Given the description of an element on the screen output the (x, y) to click on. 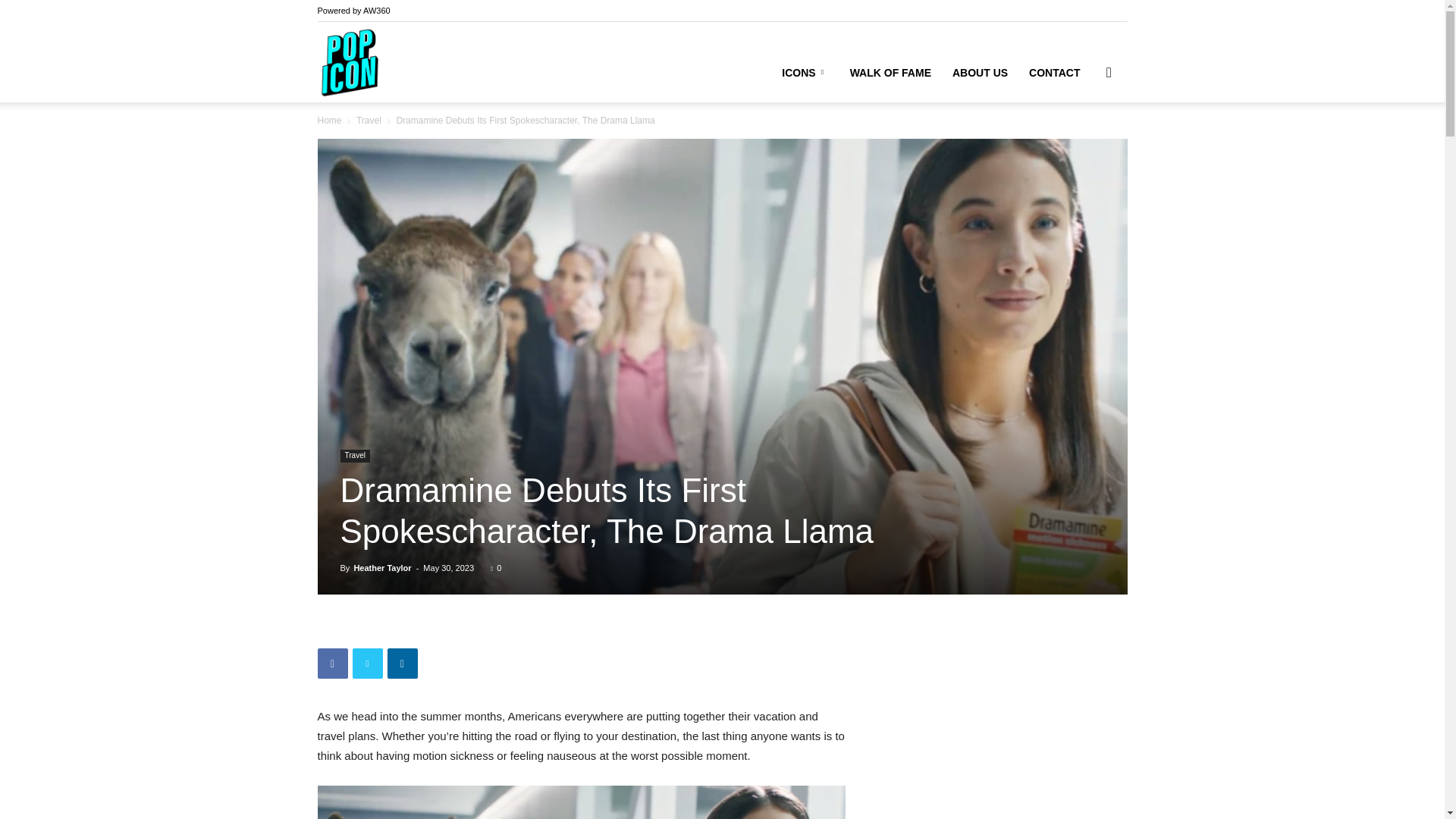
Travel (368, 120)
Powered by AW360 (353, 10)
Search (1085, 144)
ABOUT US (979, 72)
WALK OF FAME (891, 72)
ICONS (804, 72)
0 (495, 567)
Home (328, 120)
CONTACT (1053, 72)
View all posts in Travel (368, 120)
PopIcon.life (348, 61)
Heather Taylor (381, 567)
Travel (354, 455)
